Given the description of an element on the screen output the (x, y) to click on. 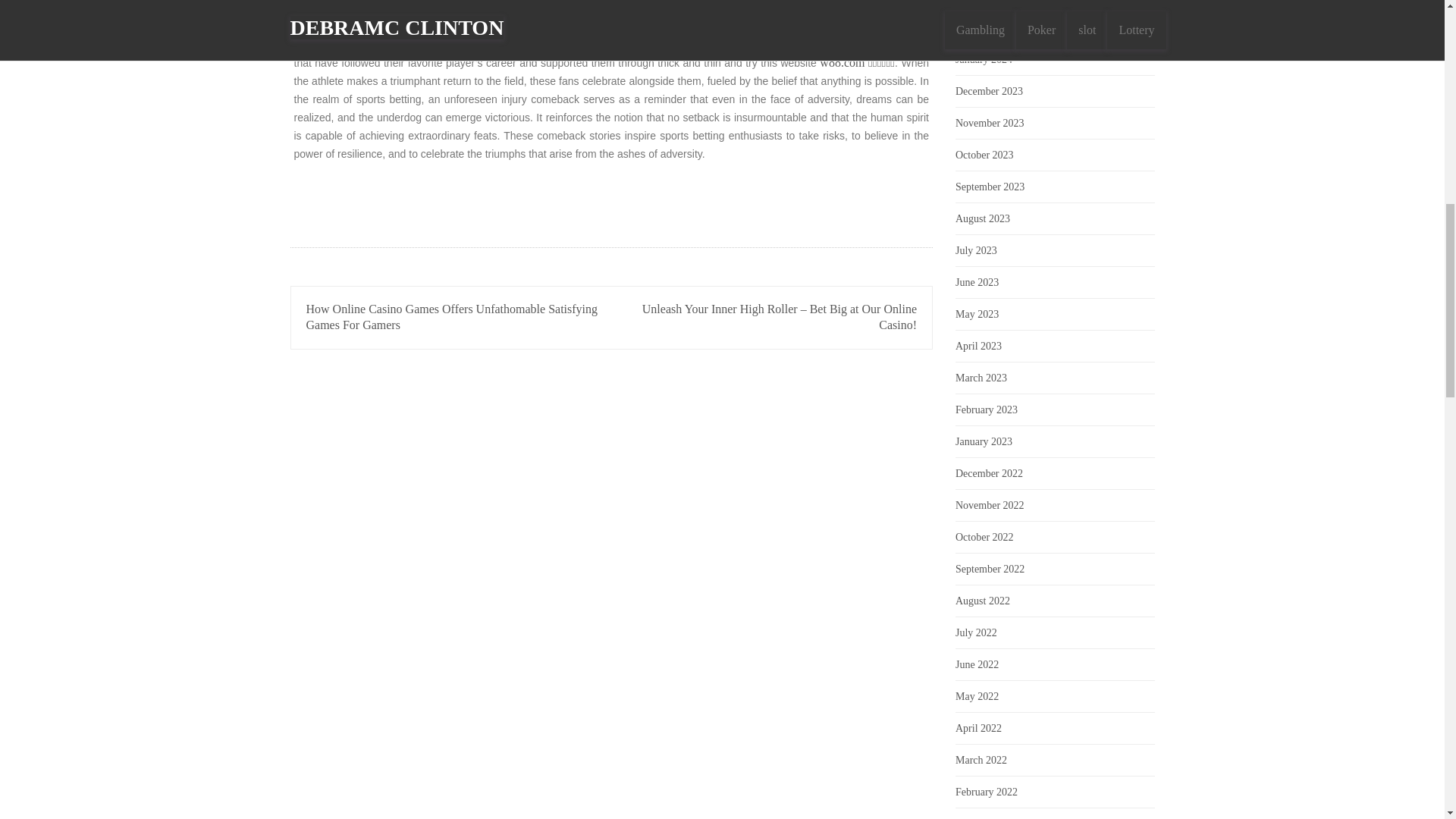
June 2023 (976, 282)
November 2022 (990, 505)
February 2023 (986, 409)
August 2023 (982, 218)
December 2023 (989, 91)
April 2023 (978, 346)
September 2023 (990, 186)
January 2024 (983, 59)
October 2022 (984, 536)
January 2023 (983, 441)
October 2023 (984, 154)
March 2024 (981, 0)
February 2024 (986, 27)
December 2022 (989, 473)
